Given the description of an element on the screen output the (x, y) to click on. 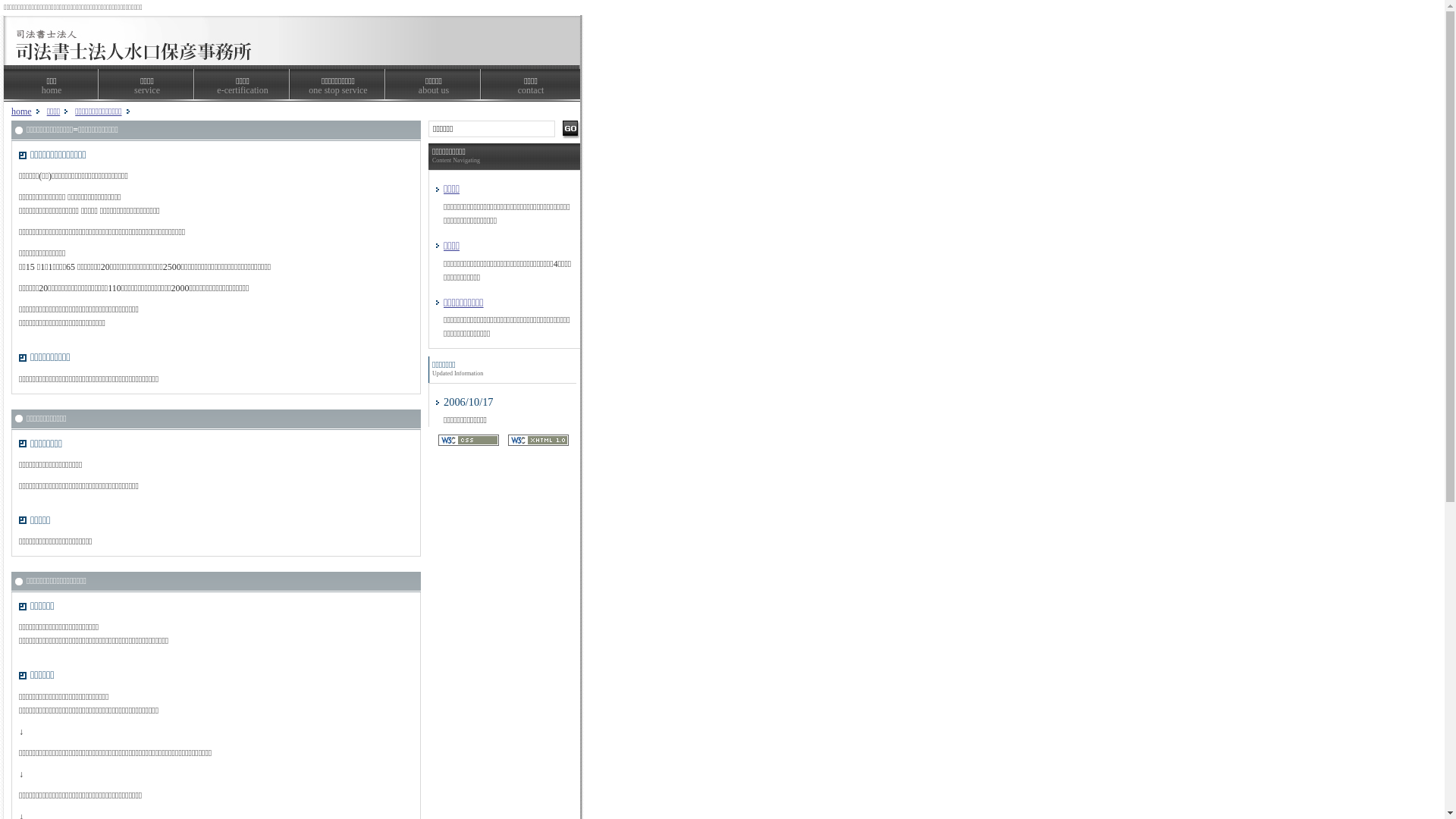
home Element type: text (21, 111)
